Given the description of an element on the screen output the (x, y) to click on. 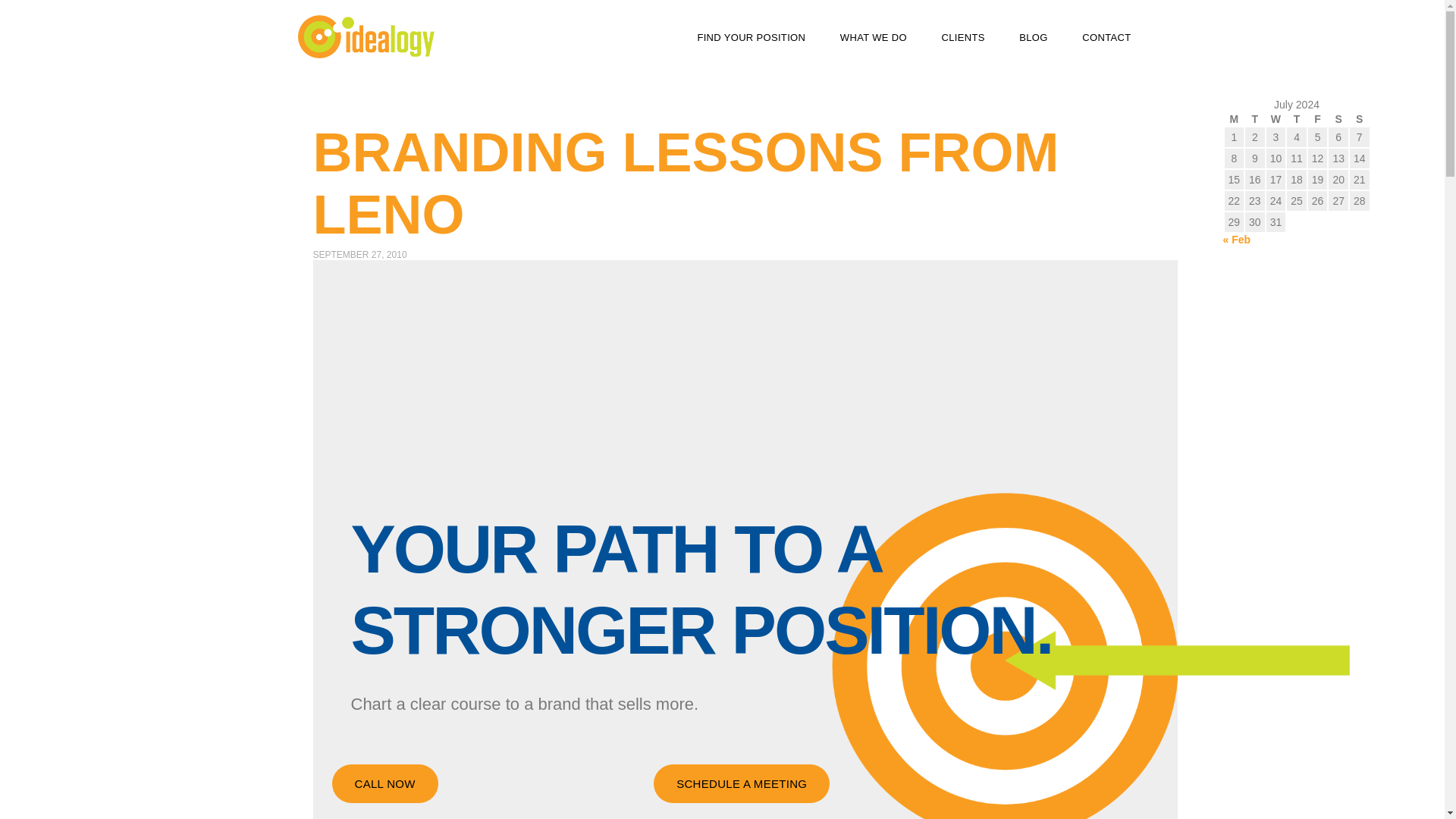
Branding Lessons from Leno (685, 183)
SCHEDULE A MEETING (741, 783)
CLIENTS (962, 37)
CALL NOW (384, 783)
Tuesday (1254, 119)
Friday (1317, 119)
BRANDING LESSONS FROM LENO (685, 183)
WHAT WE DO (873, 37)
Wednesday (1275, 119)
BLOG (1032, 37)
FIND YOUR POSITION (751, 37)
Sunday (1359, 119)
CONTACT (1106, 37)
Thursday (1296, 119)
Saturday (1337, 119)
